Given the description of an element on the screen output the (x, y) to click on. 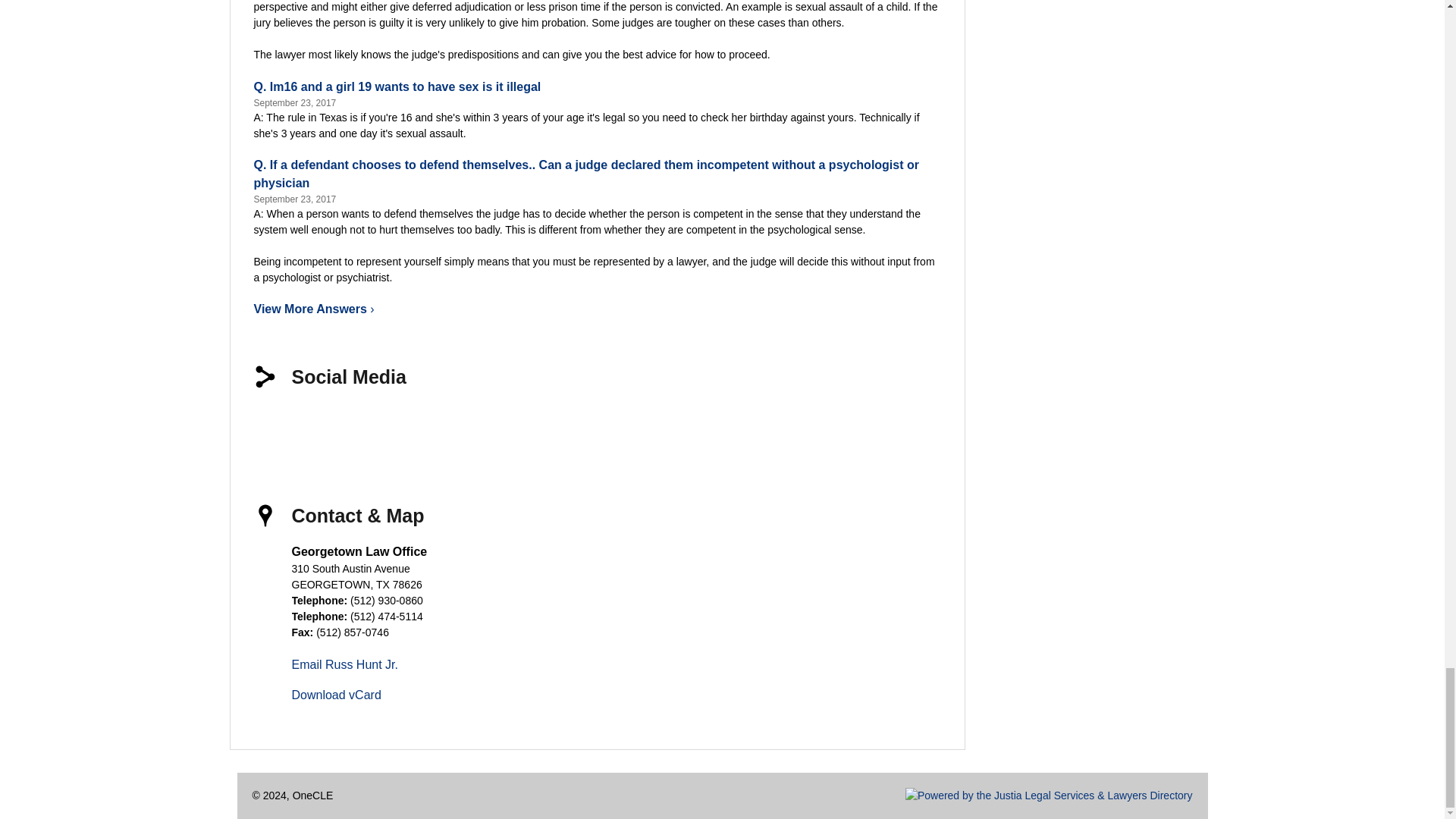
Russ Hunt Jr.'s JD Supra Profile (646, 426)
 Justia Profile (435, 426)
Download vCard (335, 694)
Russ Hunt Jr.'s Martindale Profile (594, 426)
Russ Hunt Jr. on Facebook (275, 426)
Russ Hunt Jr.'s JD Supra Profile (646, 426)
Russ Hunt Jr.'s Avvo Profile (488, 426)
Russ Hunt Jr.'s Avvo Profile (488, 426)
Email Russ Hunt Jr. (344, 664)
Facebook (275, 426)
LinkedIn (381, 426)
Russ Hunt Jr.'s Lawyers.com Profile (541, 426)
Justia Profile (435, 426)
X (328, 426)
